Given the description of an element on the screen output the (x, y) to click on. 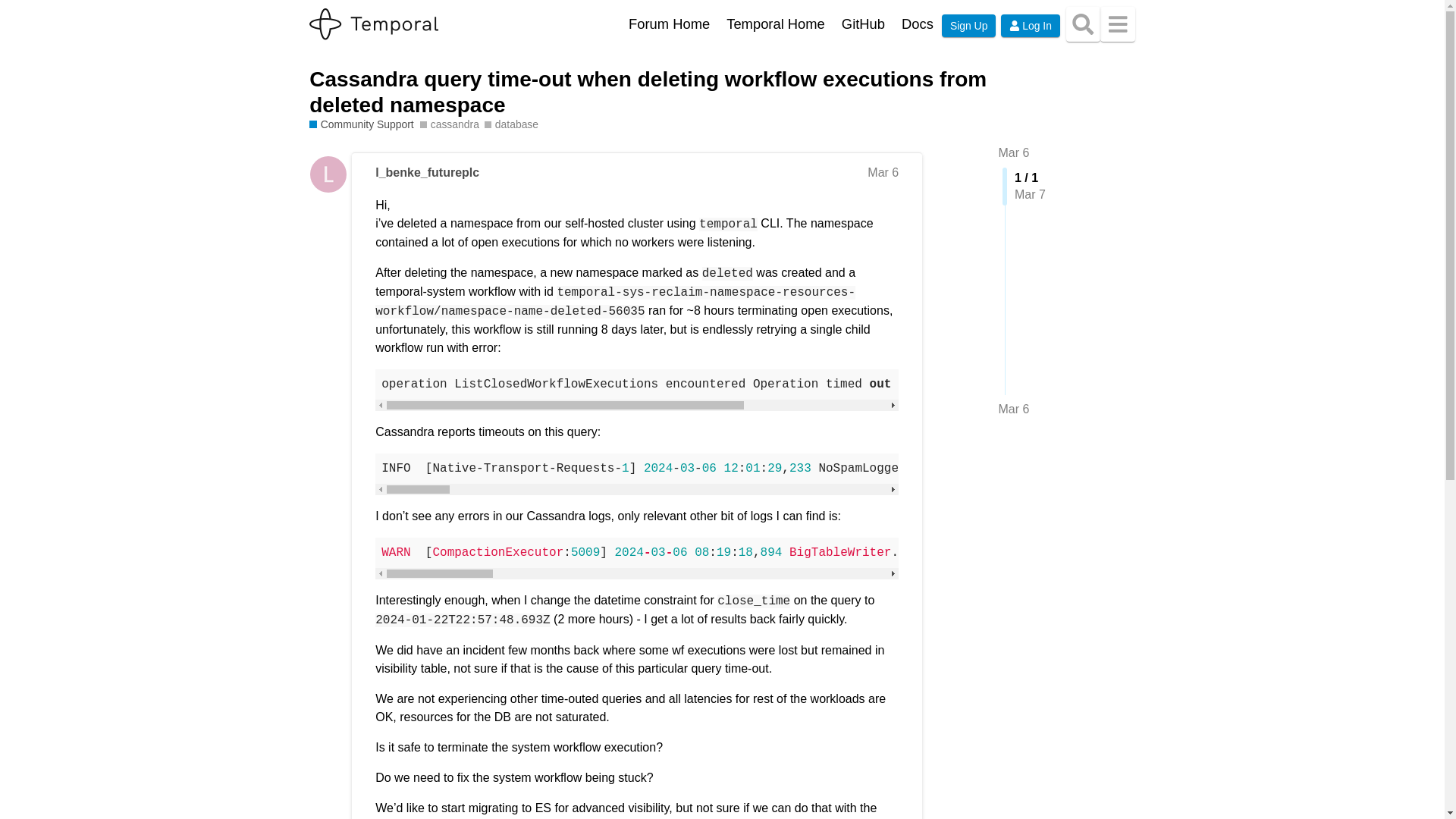
Jump to the last post (1013, 408)
Temporal Home (774, 23)
cassandra (449, 124)
Post date (882, 172)
database (511, 124)
GitHub (862, 23)
Temporal Github (862, 23)
Mar 6 (1013, 152)
Forum Home (668, 23)
